Given the description of an element on the screen output the (x, y) to click on. 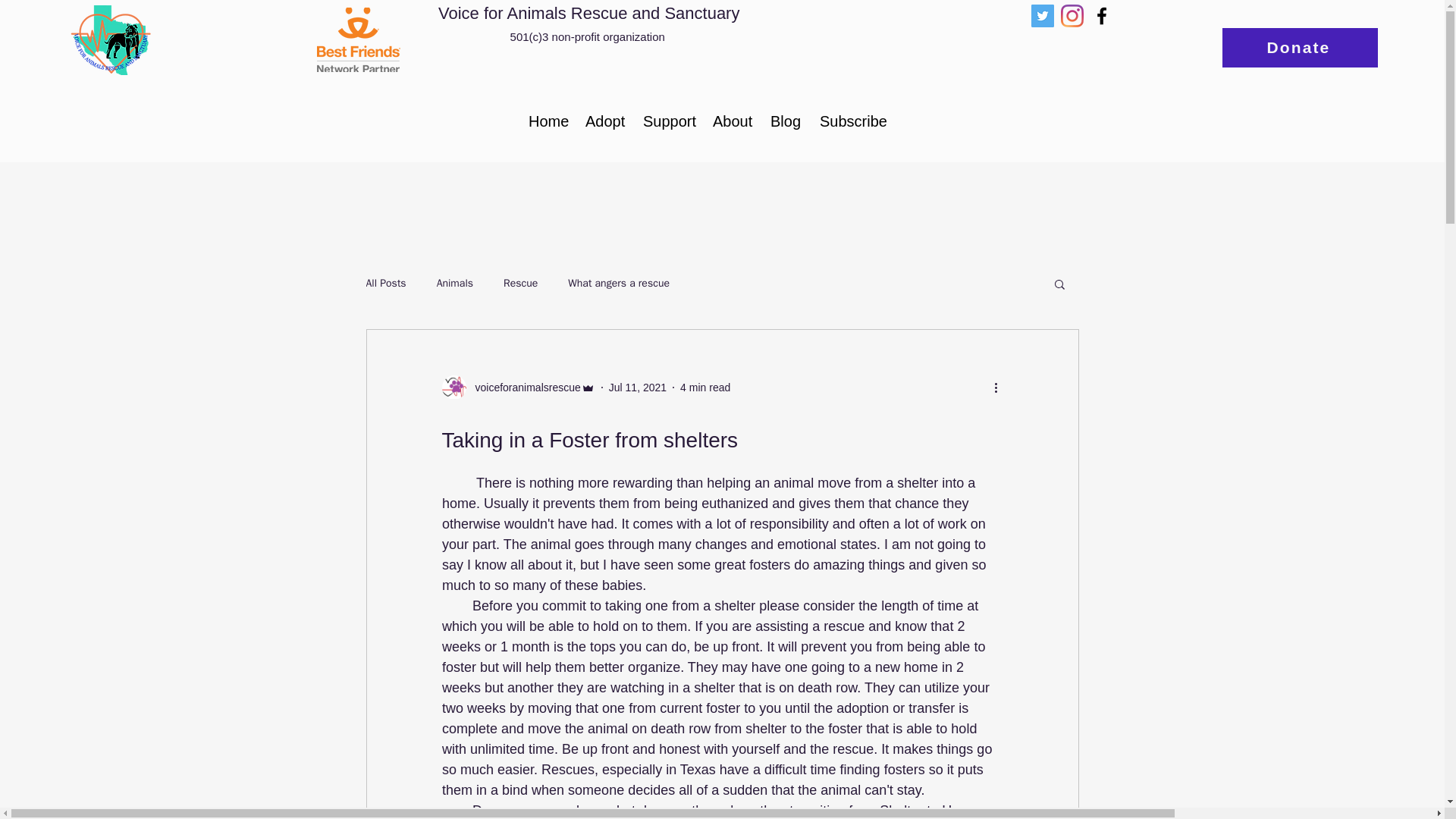
Donate (1300, 47)
4 min read (704, 387)
Home (544, 121)
Animals (454, 283)
voiceforanimalsrescue (517, 387)
Blog (783, 121)
Subscribe (850, 121)
voiceforanimalsrescue (522, 387)
What angers a rescue (618, 283)
Voice for Animals Rescue and Sanctuary (588, 13)
